Given the description of an element on the screen output the (x, y) to click on. 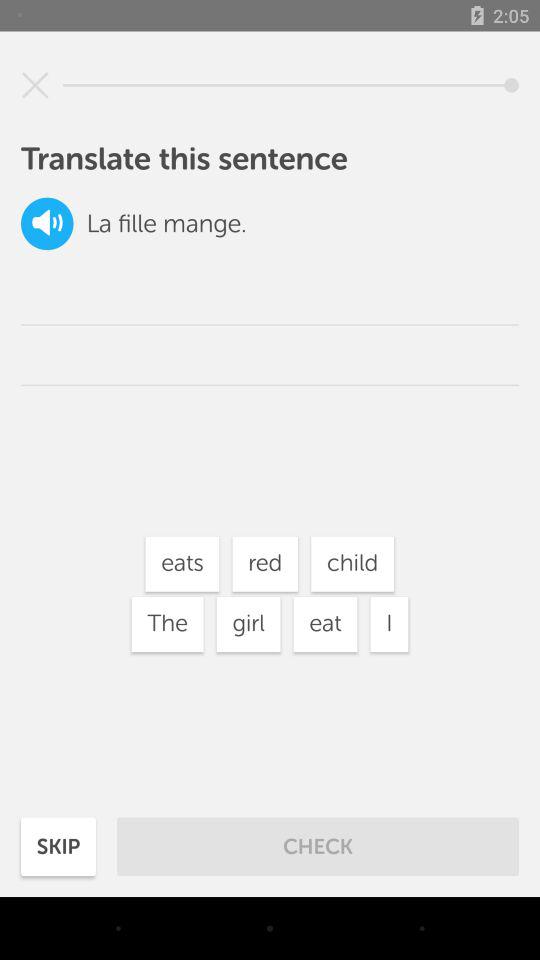
select girl (248, 624)
white box with text red (265, 564)
click on the skip button (58, 846)
select the x button (35, 85)
select the text box which says check (317, 846)
click on button left to girl at bottom (167, 624)
